Given the description of an element on the screen output the (x, y) to click on. 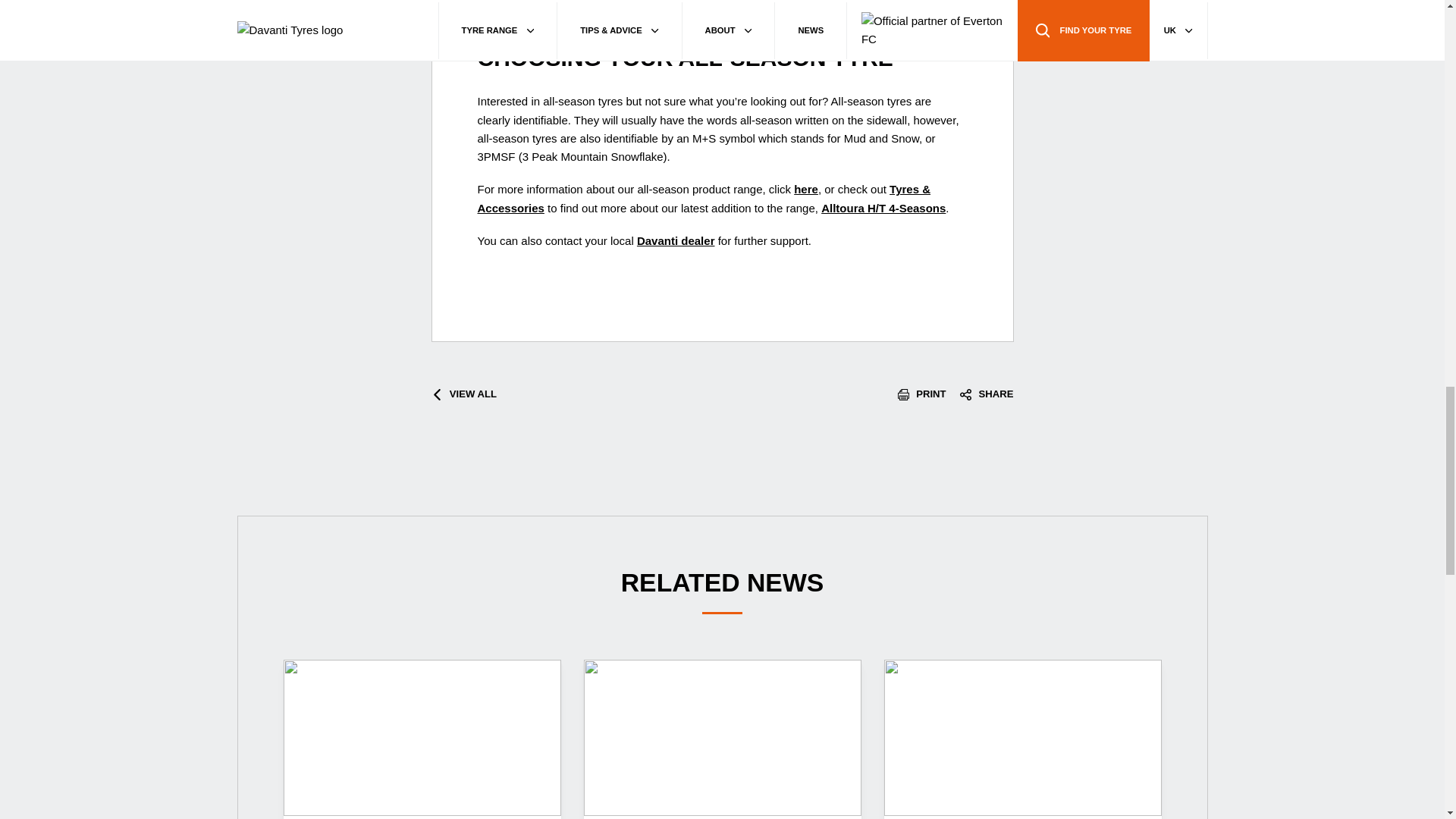
Close up of wheel of car tire leak from puncture. Rear view. (421, 737)
Man checking car tire photo (722, 737)
Screenshot 2023-07-20 145846 (1022, 737)
